Given the description of an element on the screen output the (x, y) to click on. 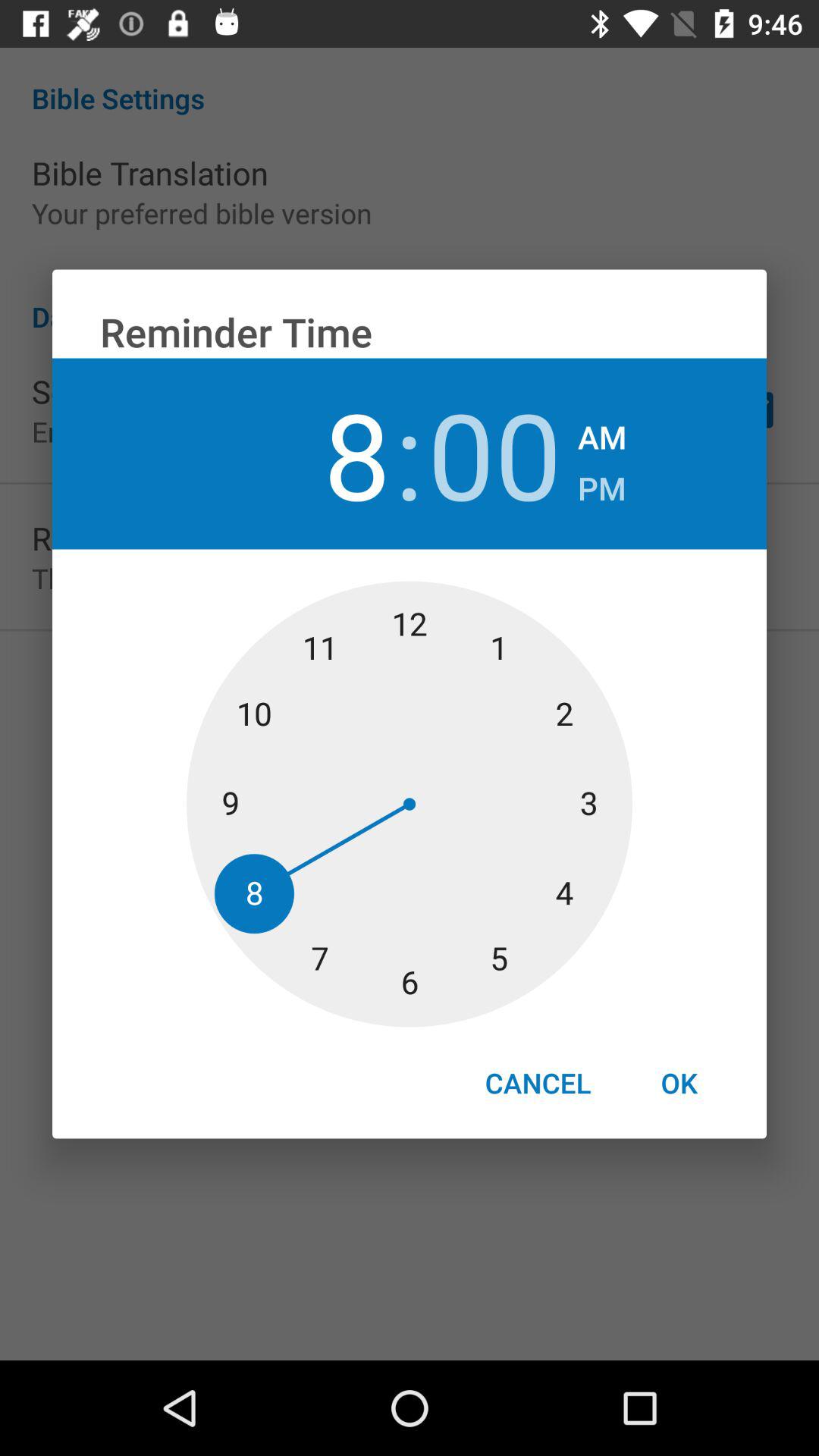
choose the item next to the cancel item (678, 1082)
